Given the description of an element on the screen output the (x, y) to click on. 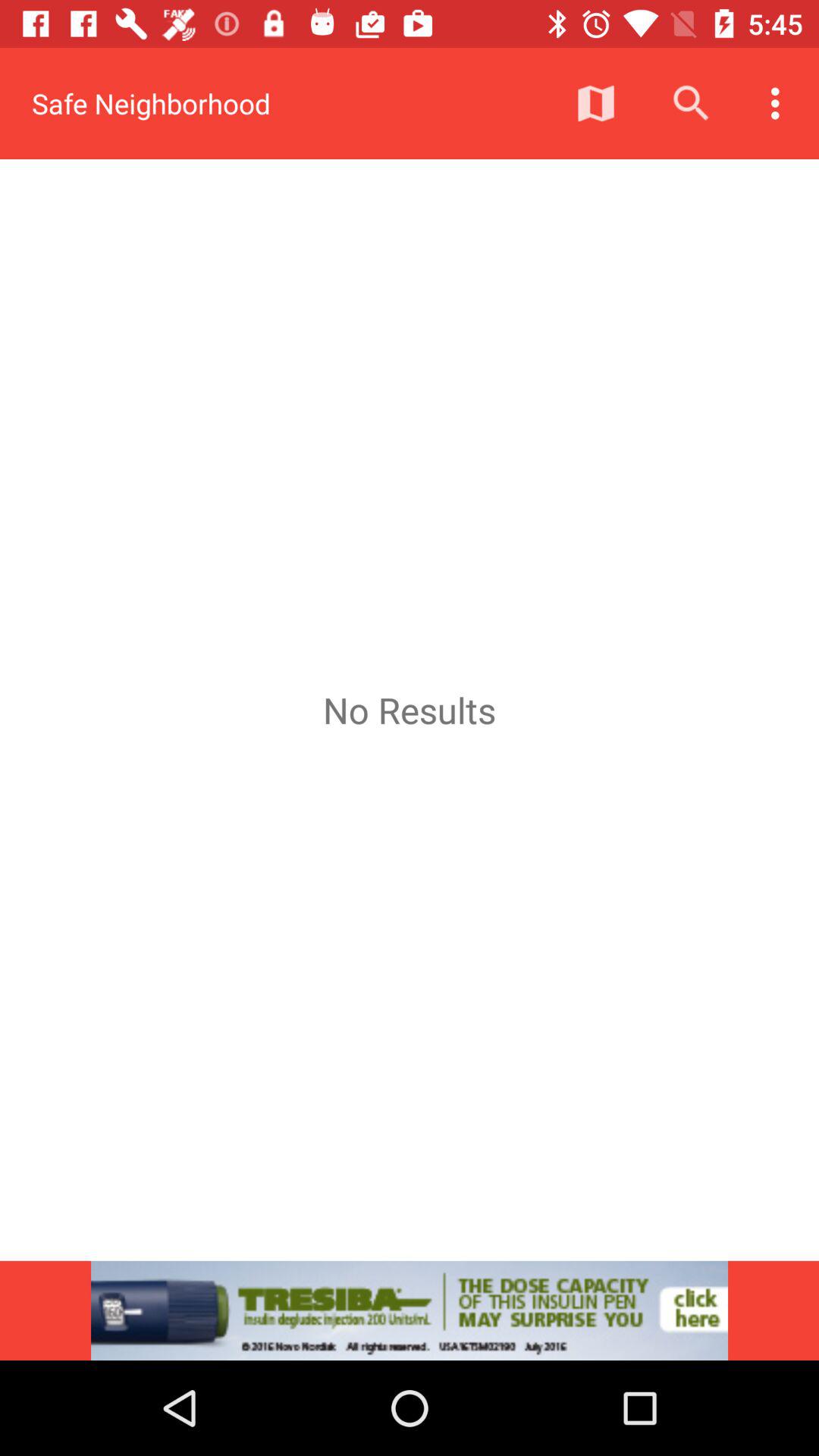
press item to the right of safe neighborhood (595, 103)
